Given the description of an element on the screen output the (x, y) to click on. 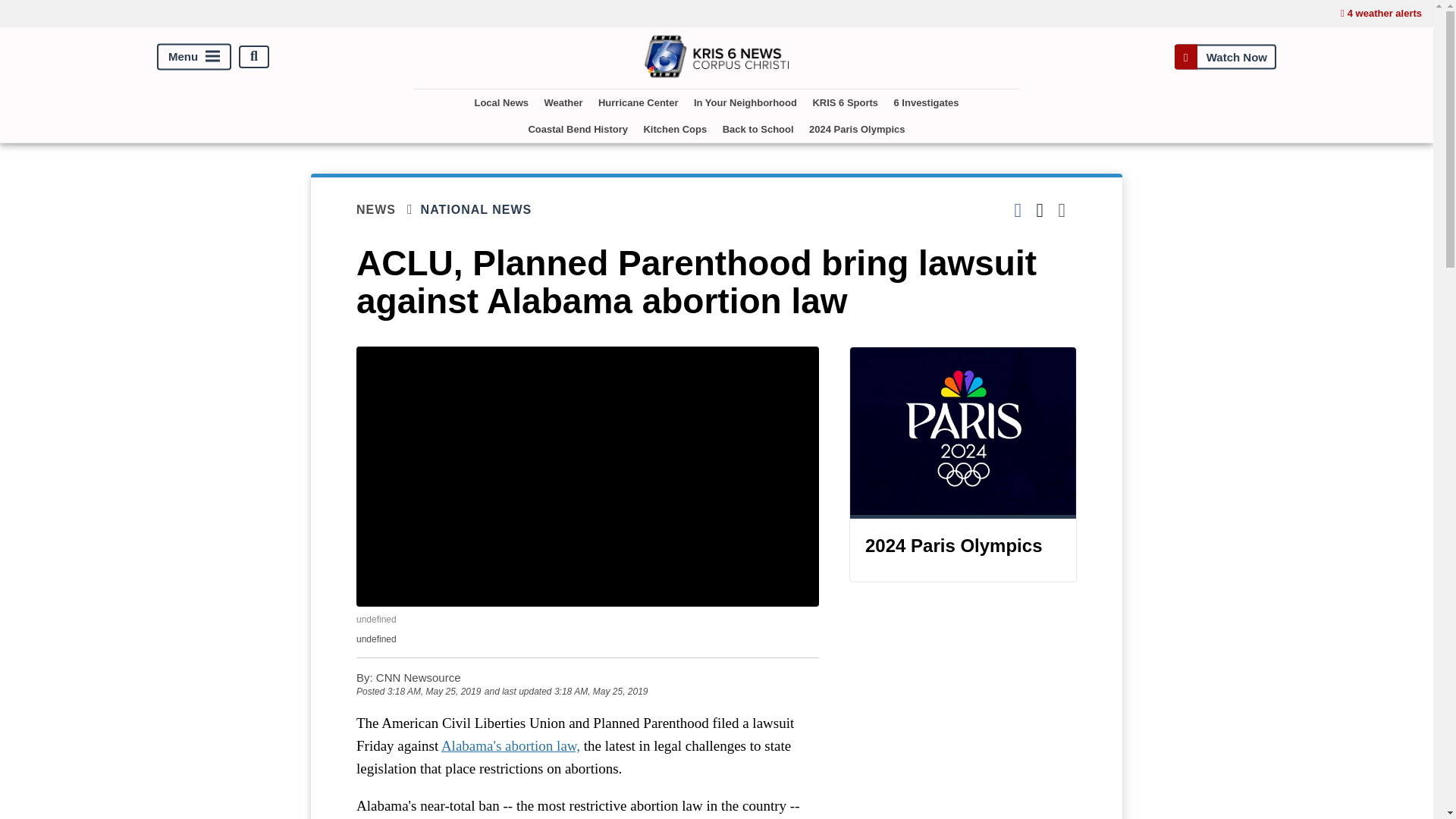
Watch Now (1224, 56)
Menu (194, 56)
